Given the description of an element on the screen output the (x, y) to click on. 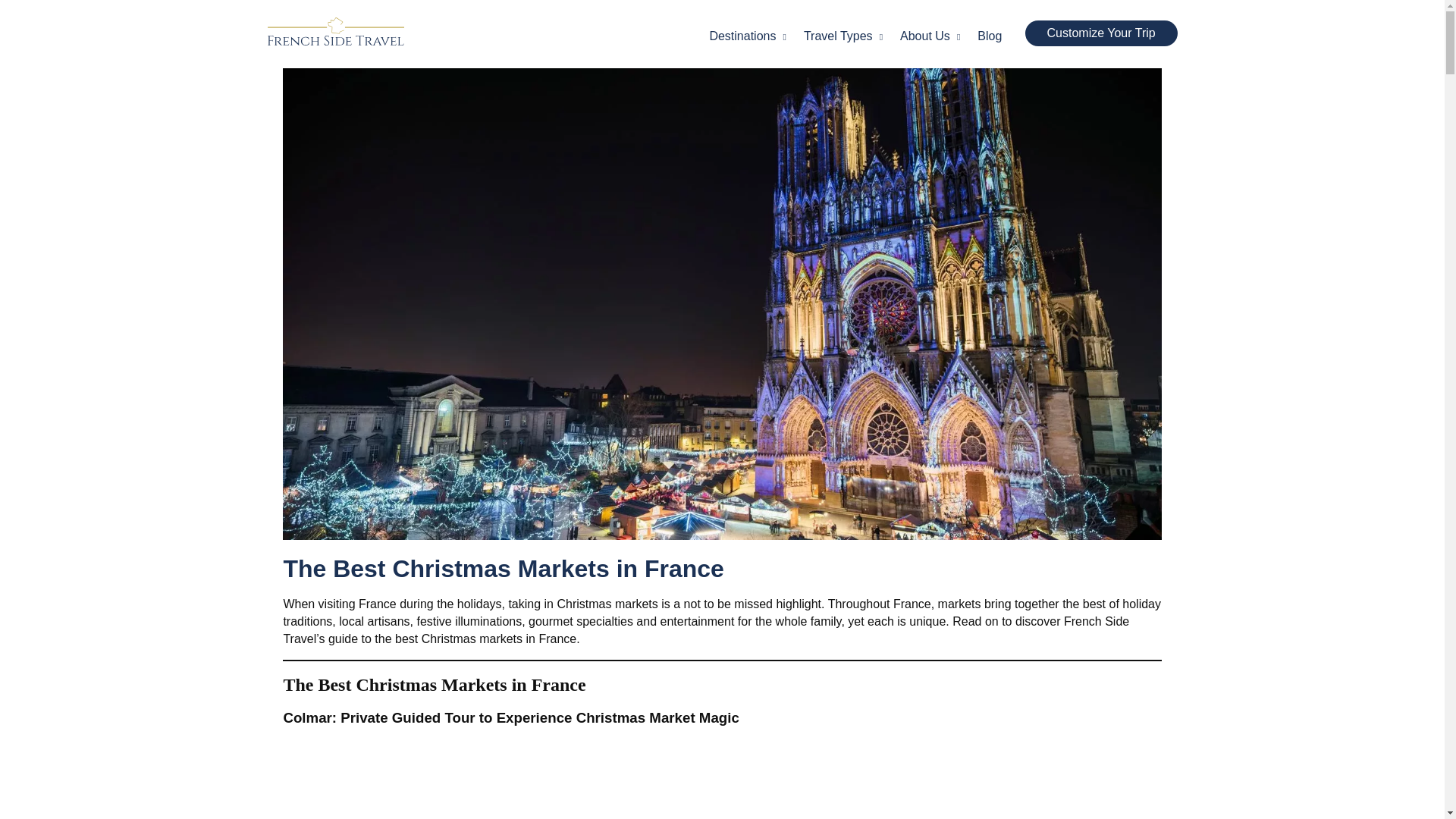
About Us (930, 35)
Blog (989, 35)
Customize Your Trip (1101, 32)
Destinations (748, 35)
Travel Types (844, 35)
